Given the description of an element on the screen output the (x, y) to click on. 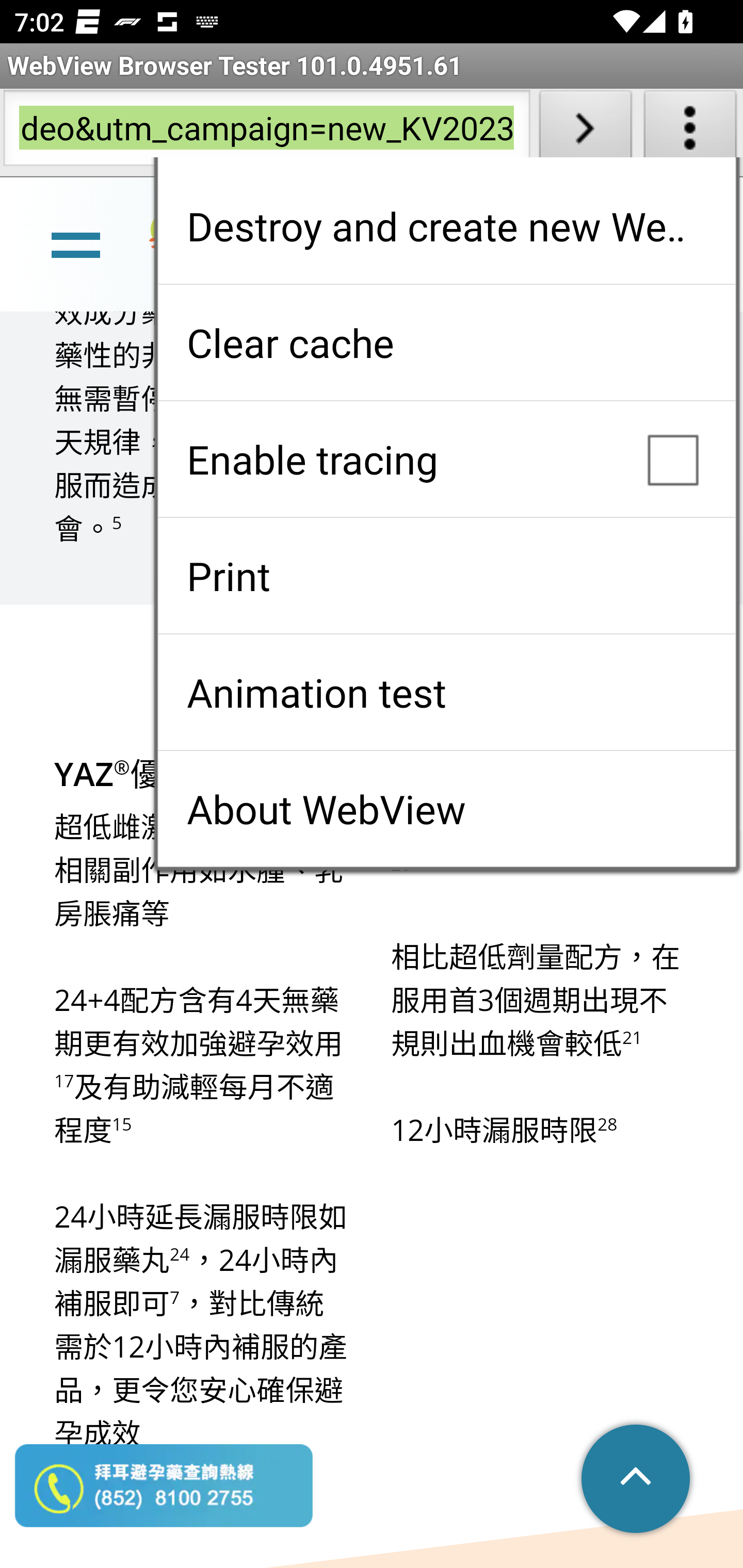
Destroy and create new WebView (446, 225)
Clear cache (446, 342)
Enable tracing (446, 459)
Print (446, 575)
Animation test (446, 692)
About WebView (446, 809)
